Given the description of an element on the screen output the (x, y) to click on. 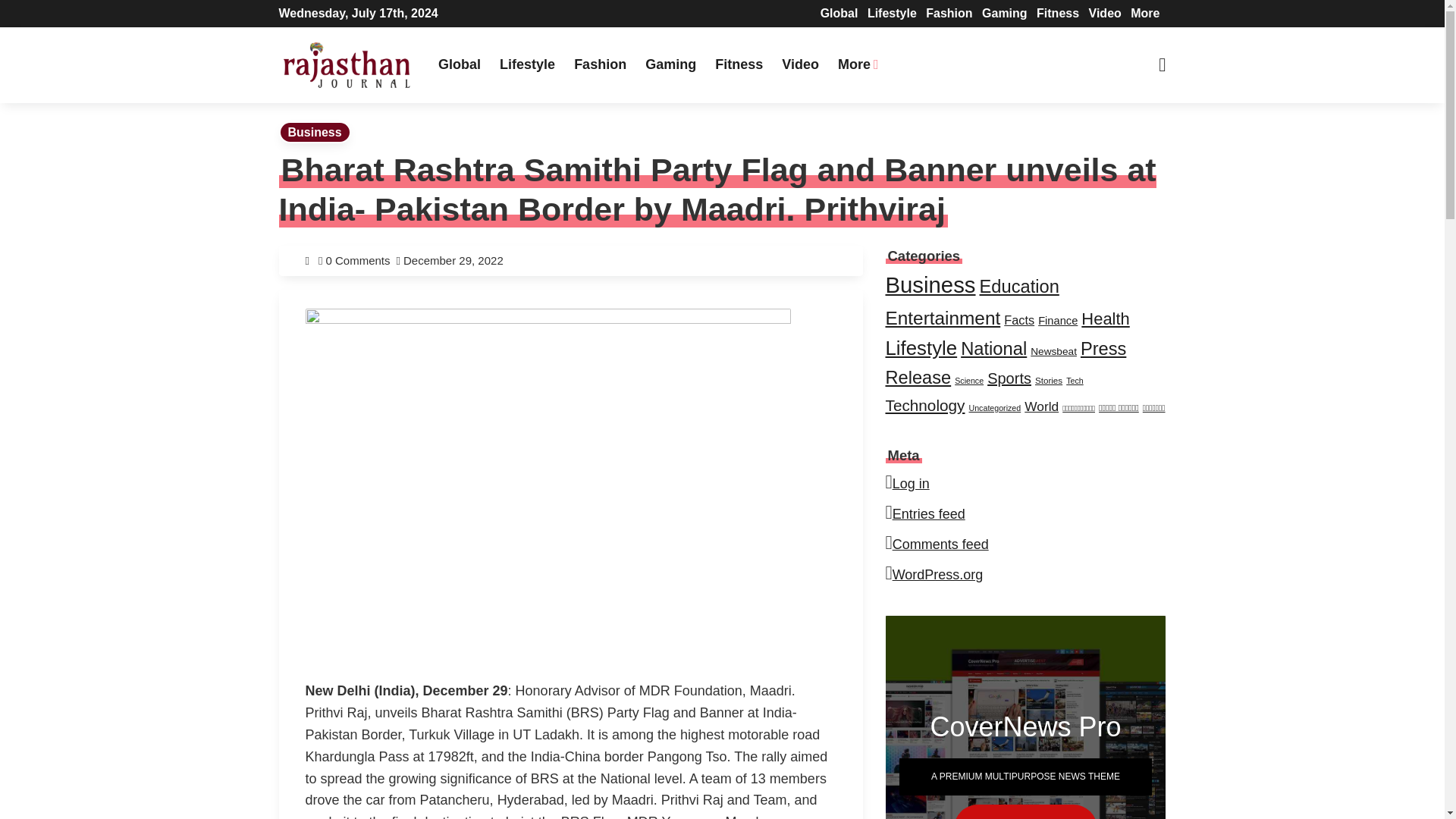
More (857, 64)
Video (1105, 12)
Search (455, 16)
Lifestyle (527, 64)
Fitness (738, 64)
Fitness (1057, 12)
Global (840, 12)
Fashion (949, 12)
Lifestyle (892, 12)
Global (458, 64)
View all posts in Business (315, 132)
Gaming (670, 64)
Video (800, 64)
Gaming (1004, 12)
Fashion (599, 64)
